Given the description of an element on the screen output the (x, y) to click on. 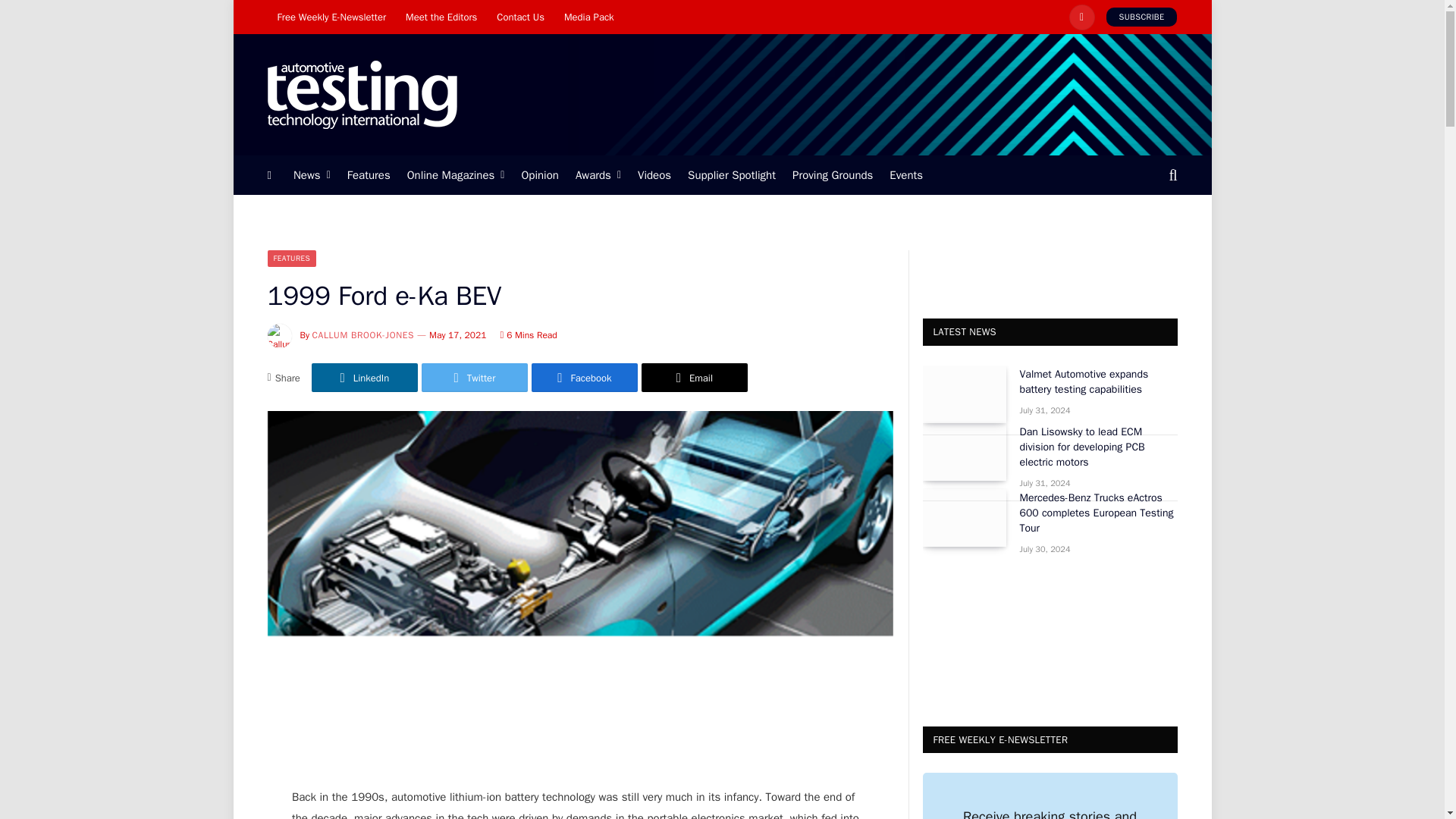
Share on LinkedIn (364, 377)
Share via Email (695, 377)
Posts by Callum Brook-Jones (363, 335)
Automotive Testing Technology International (361, 94)
Share on Facebook (584, 377)
